Given the description of an element on the screen output the (x, y) to click on. 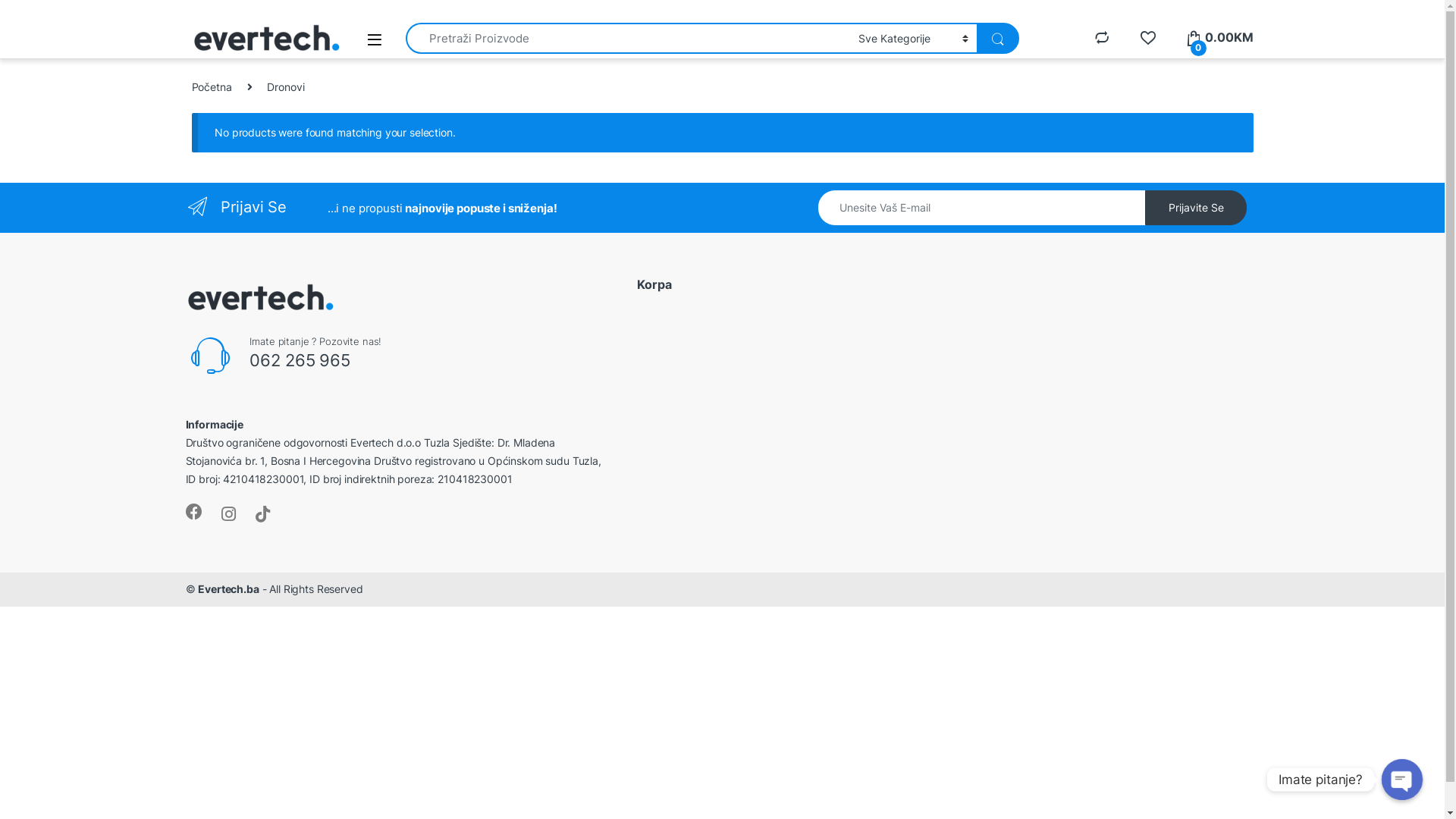
0
0.00KM Element type: text (1219, 37)
Evertech.ba Element type: text (227, 588)
Prijavite Se Element type: text (1196, 207)
